Given the description of an element on the screen output the (x, y) to click on. 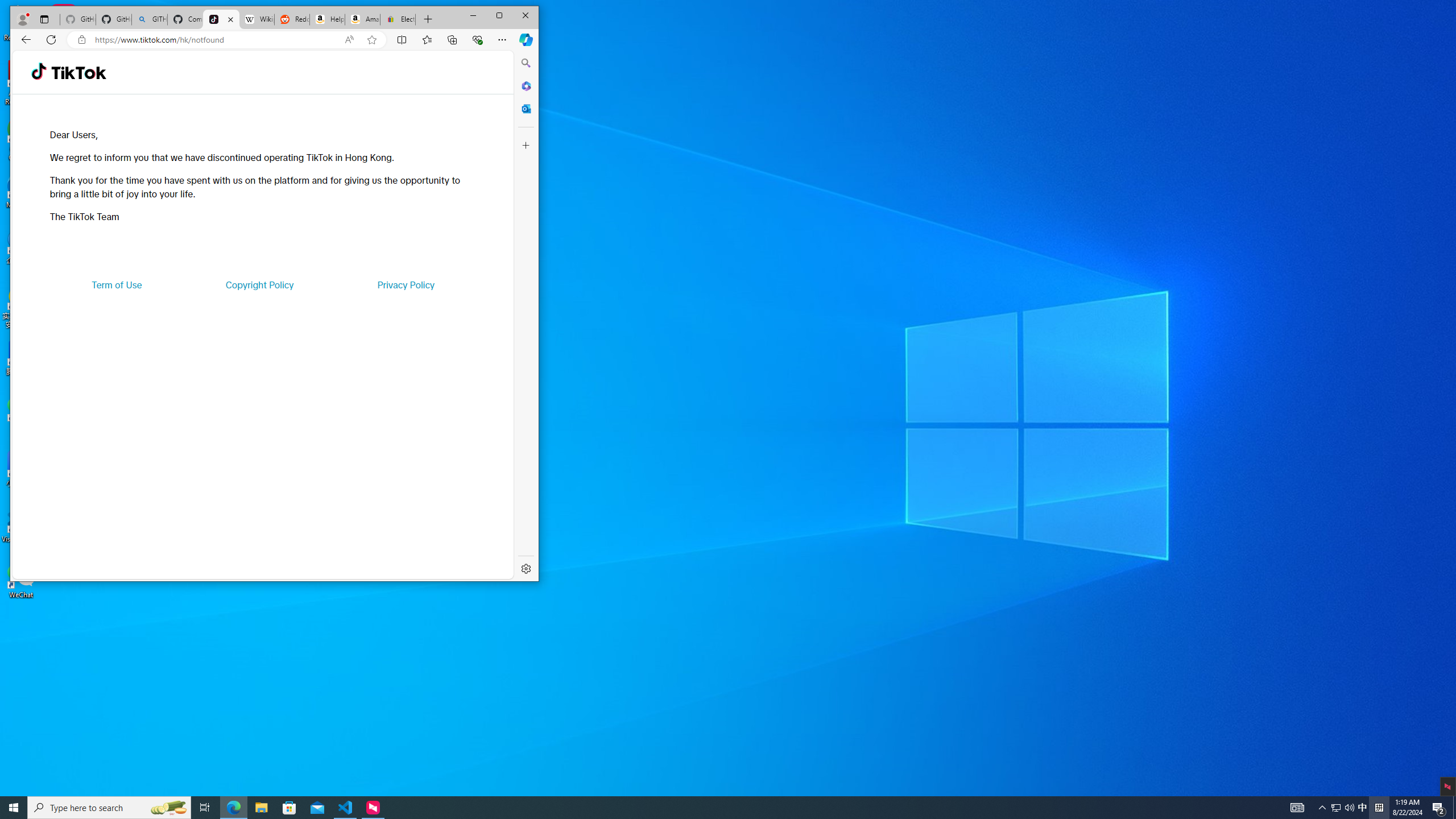
Copyright Policy (259, 284)
Wikipedia, the free encyclopedia (256, 19)
Q2790: 100% (1349, 807)
GITHUB - Search (148, 19)
Maximize (499, 15)
